Given the description of an element on the screen output the (x, y) to click on. 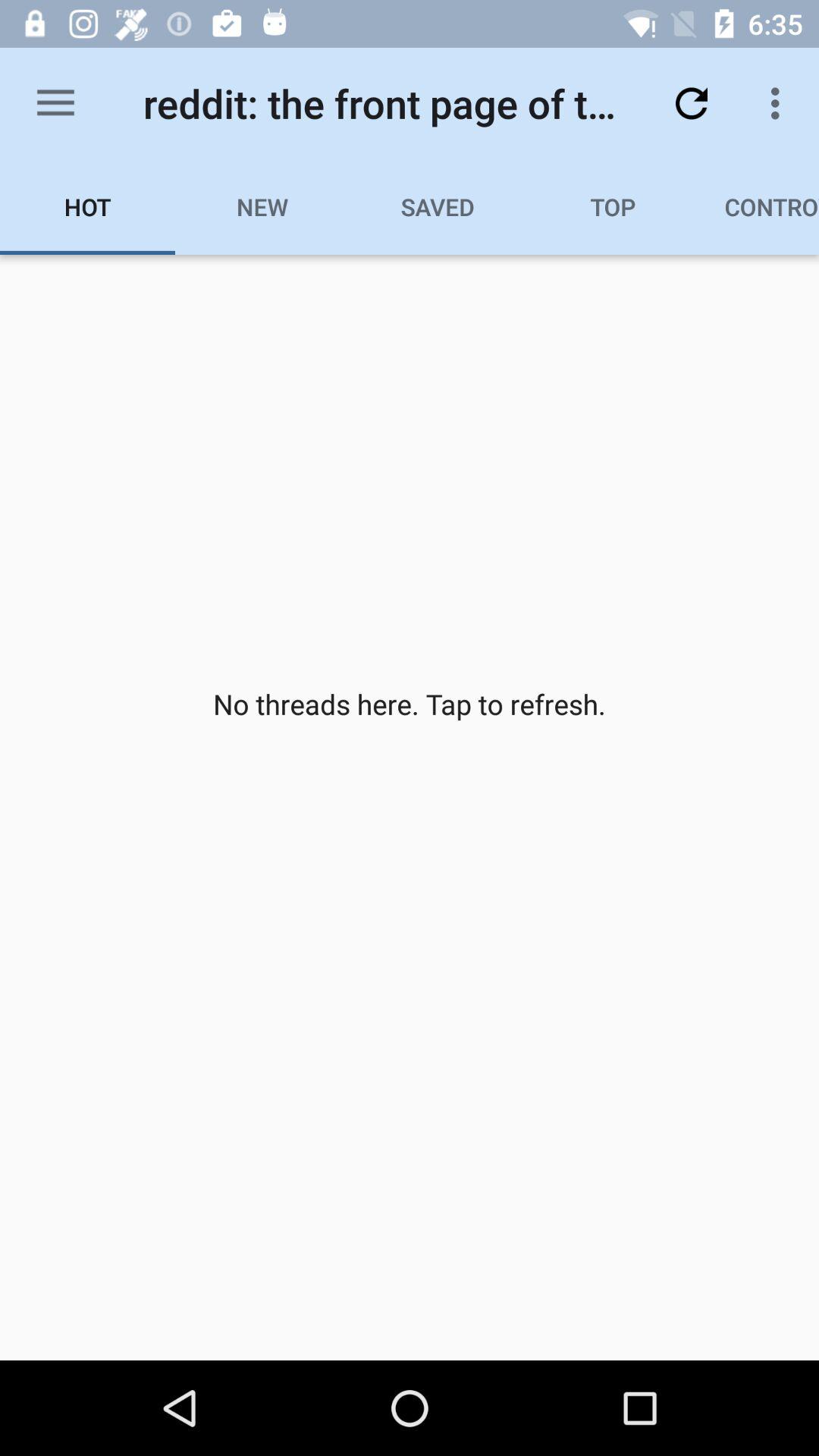
turn on item next to the reddit the front (691, 103)
